Given the description of an element on the screen output the (x, y) to click on. 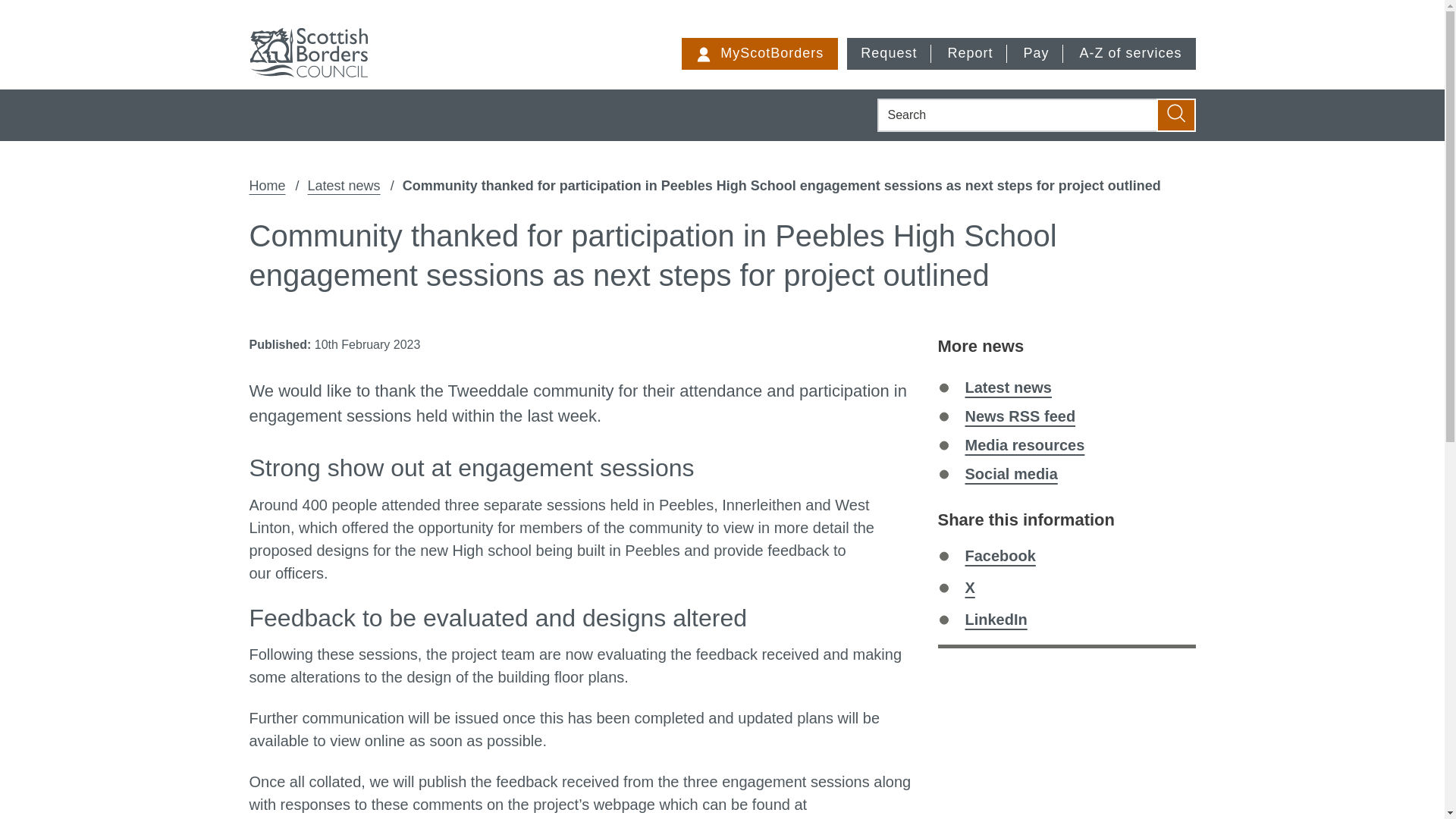
MyScotBorders (759, 52)
Latest news (994, 619)
Media resources (343, 186)
A-Z of services (1023, 444)
News RSS feed (1130, 52)
Home (1019, 415)
Search (266, 186)
Request (1175, 114)
Pay (890, 52)
Social media (1037, 52)
Latest news (1010, 473)
Report (999, 555)
